Given the description of an element on the screen output the (x, y) to click on. 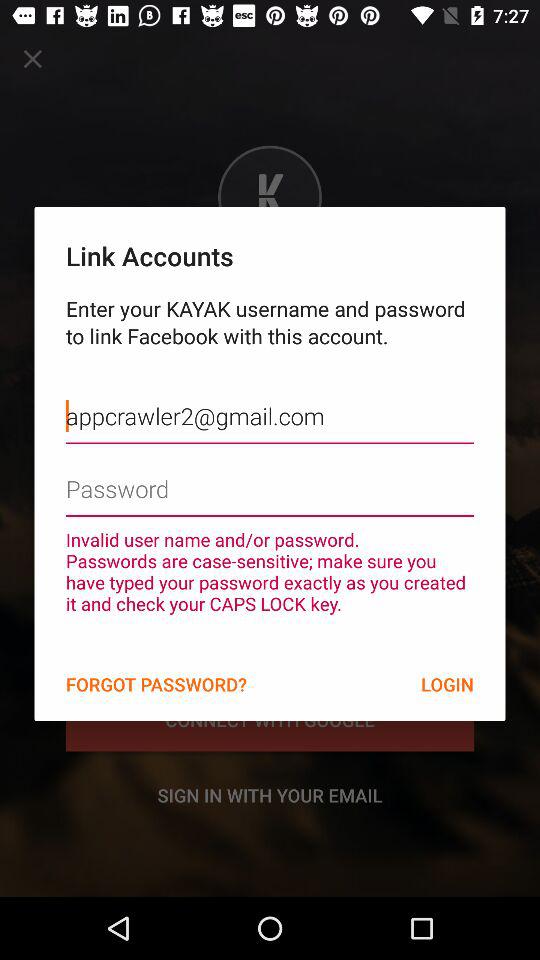
enter password (270, 474)
